Given the description of an element on the screen output the (x, y) to click on. 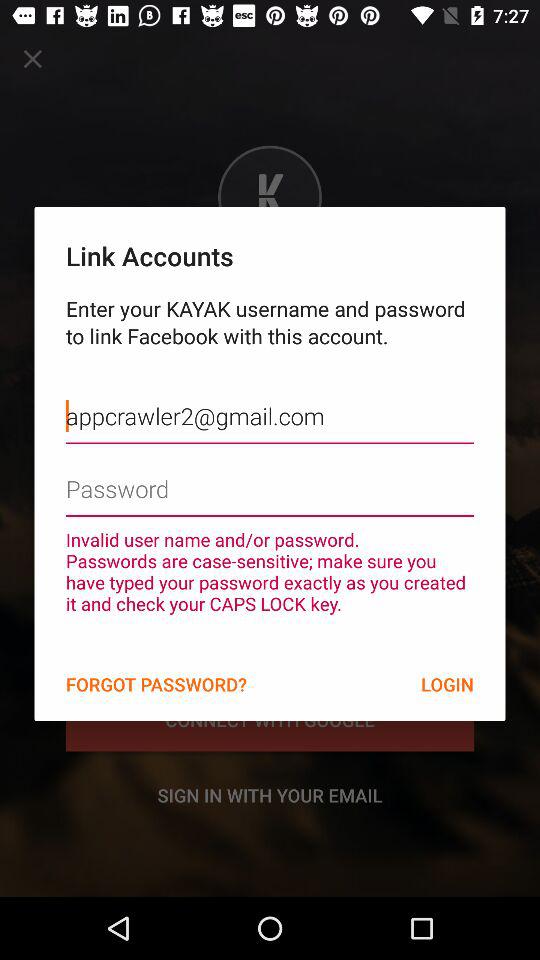
enter password (270, 474)
